Given the description of an element on the screen output the (x, y) to click on. 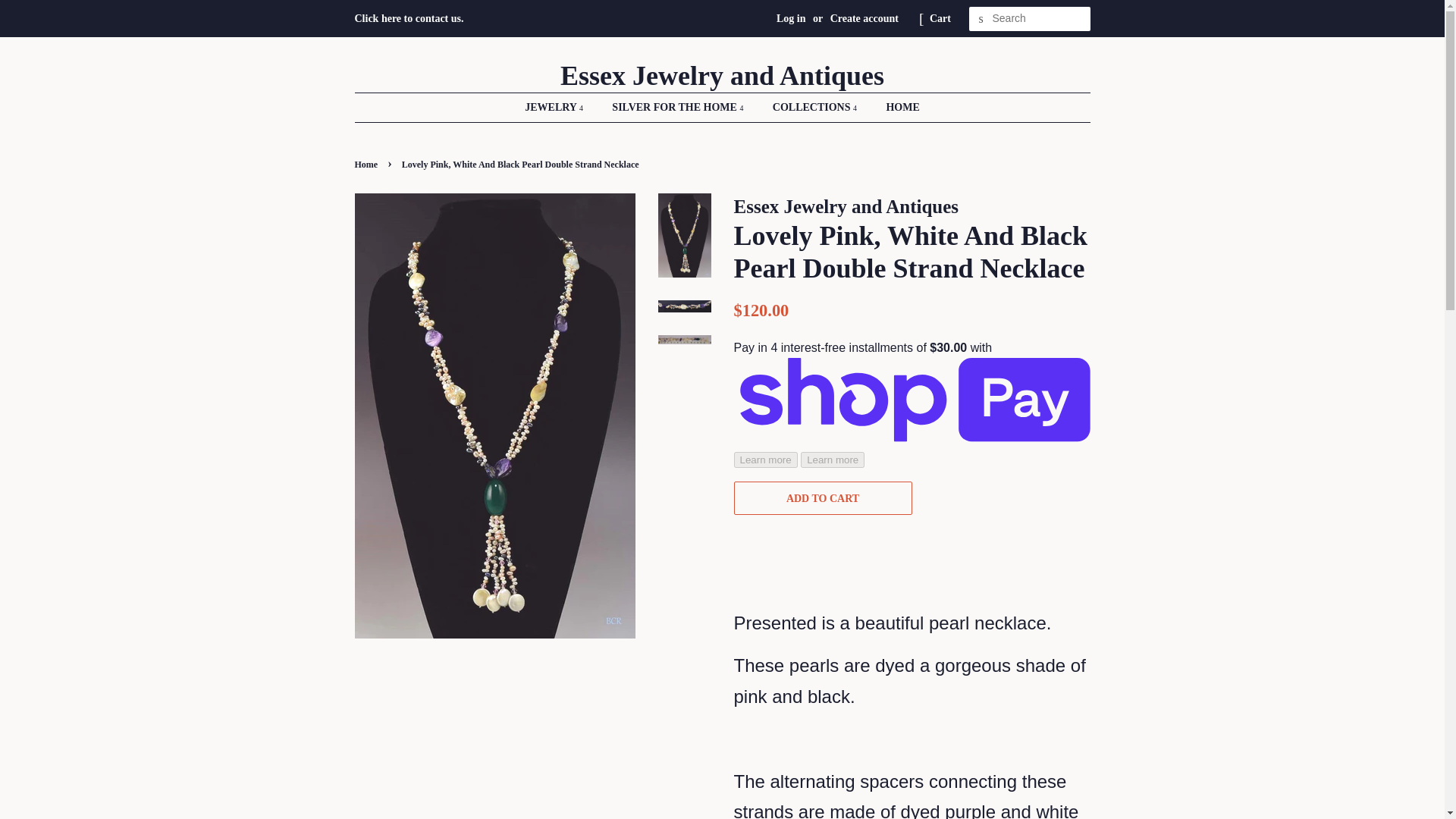
Back to the frontpage (368, 163)
SEARCH (980, 18)
Log in (791, 18)
Click here to contact us. (409, 18)
Cart (940, 18)
Create account (863, 18)
